Given the description of an element on the screen output the (x, y) to click on. 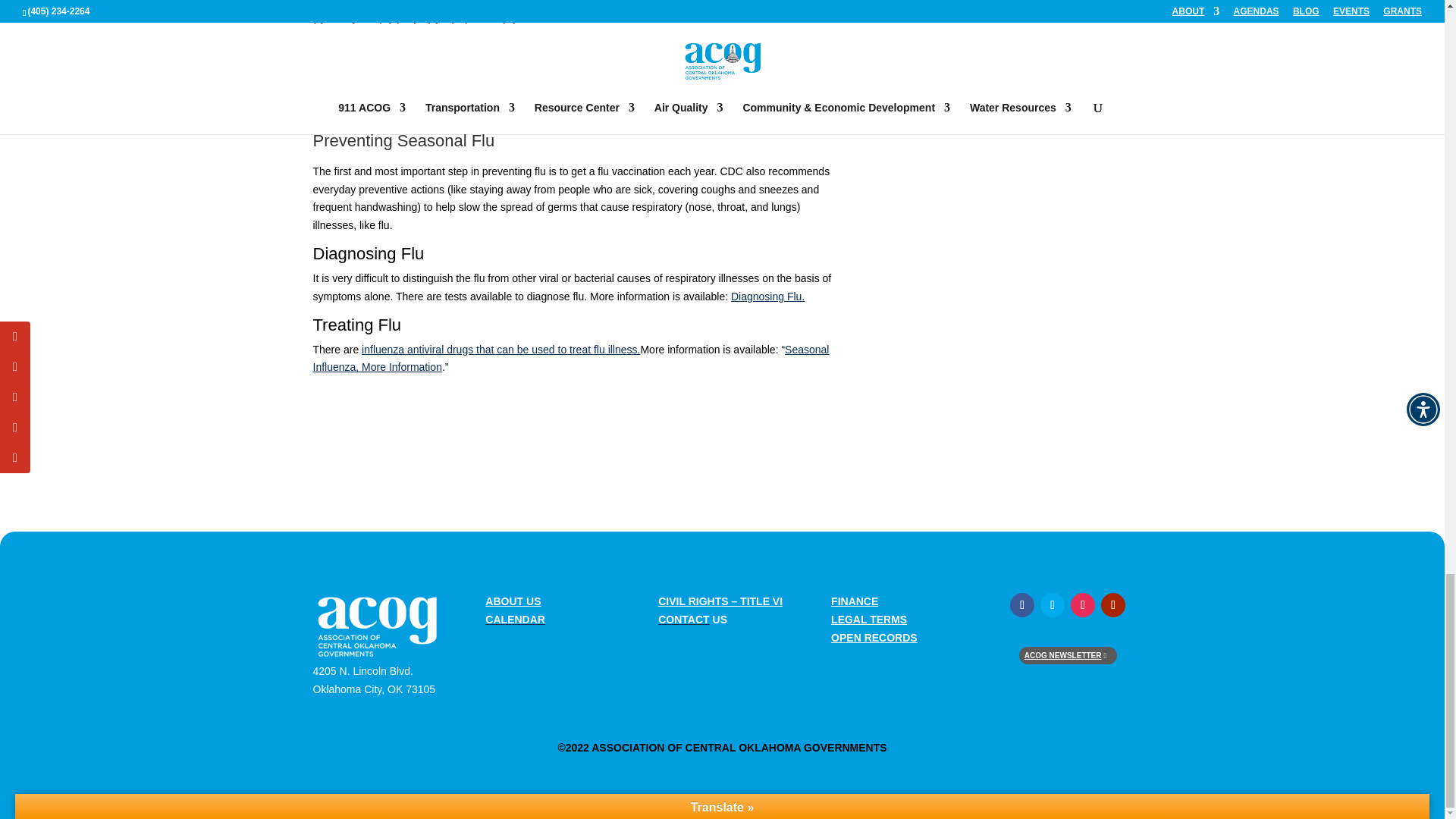
Follow on Facebook (1021, 604)
